Given the description of an element on the screen output the (x, y) to click on. 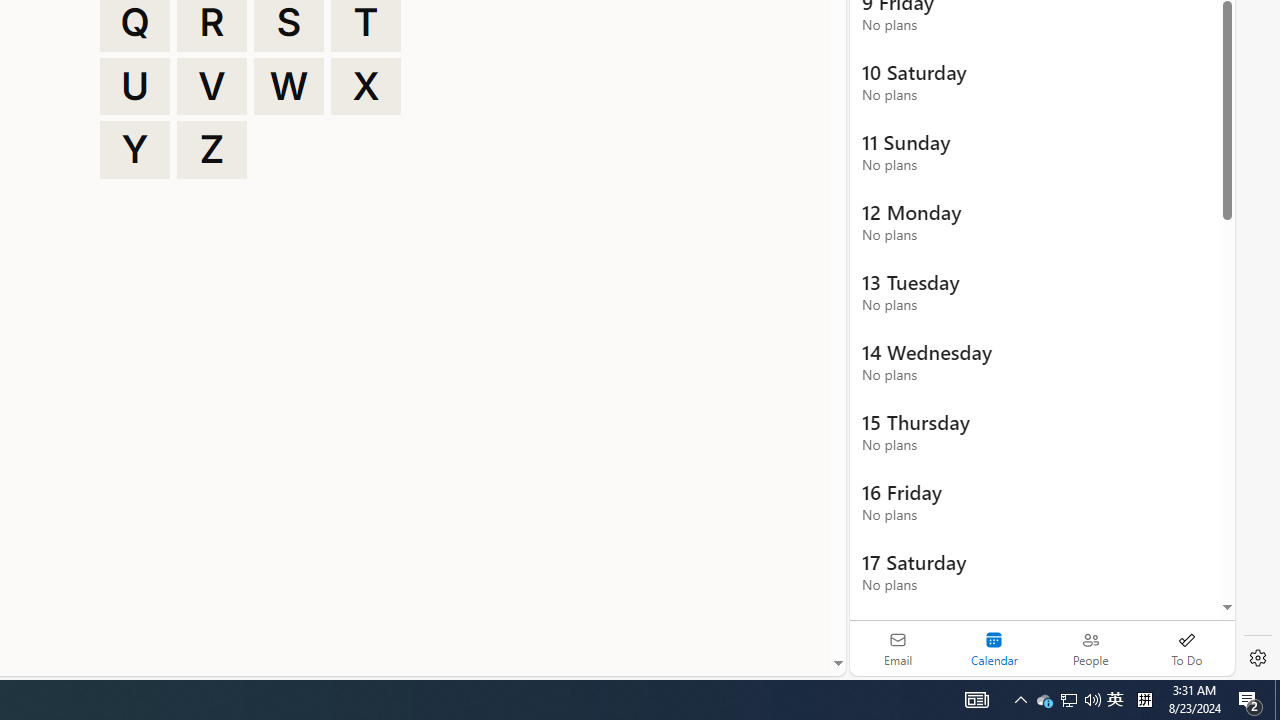
U (134, 85)
People (1090, 648)
To Do (1186, 648)
V (212, 85)
V (212, 85)
Y (134, 149)
X (365, 85)
Z (212, 149)
Selected calendar module. Date today is 22 (994, 648)
